Given the description of an element on the screen output the (x, y) to click on. 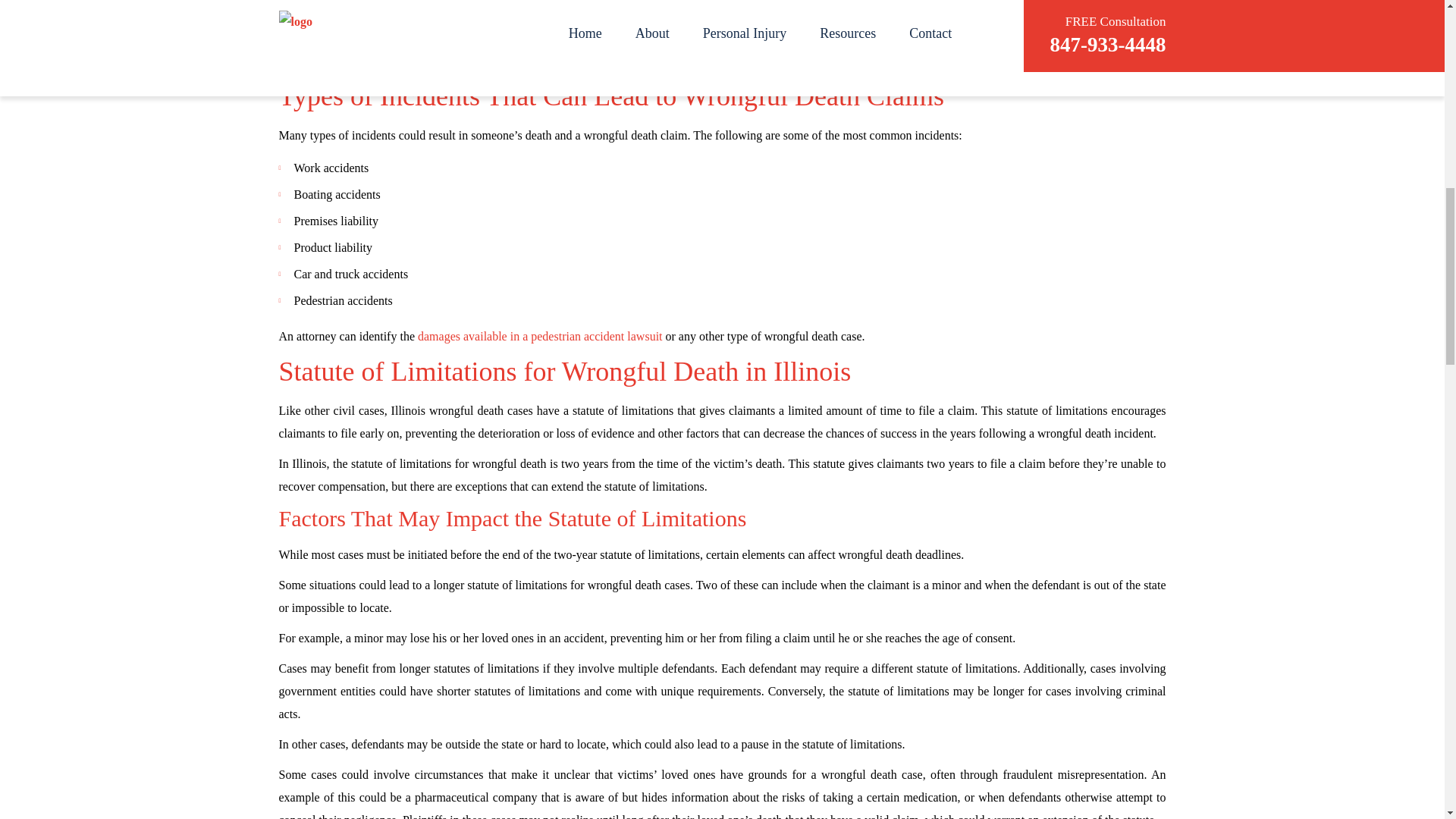
damages available in a pedestrian accident lawsuit (538, 336)
